Given the description of an element on the screen output the (x, y) to click on. 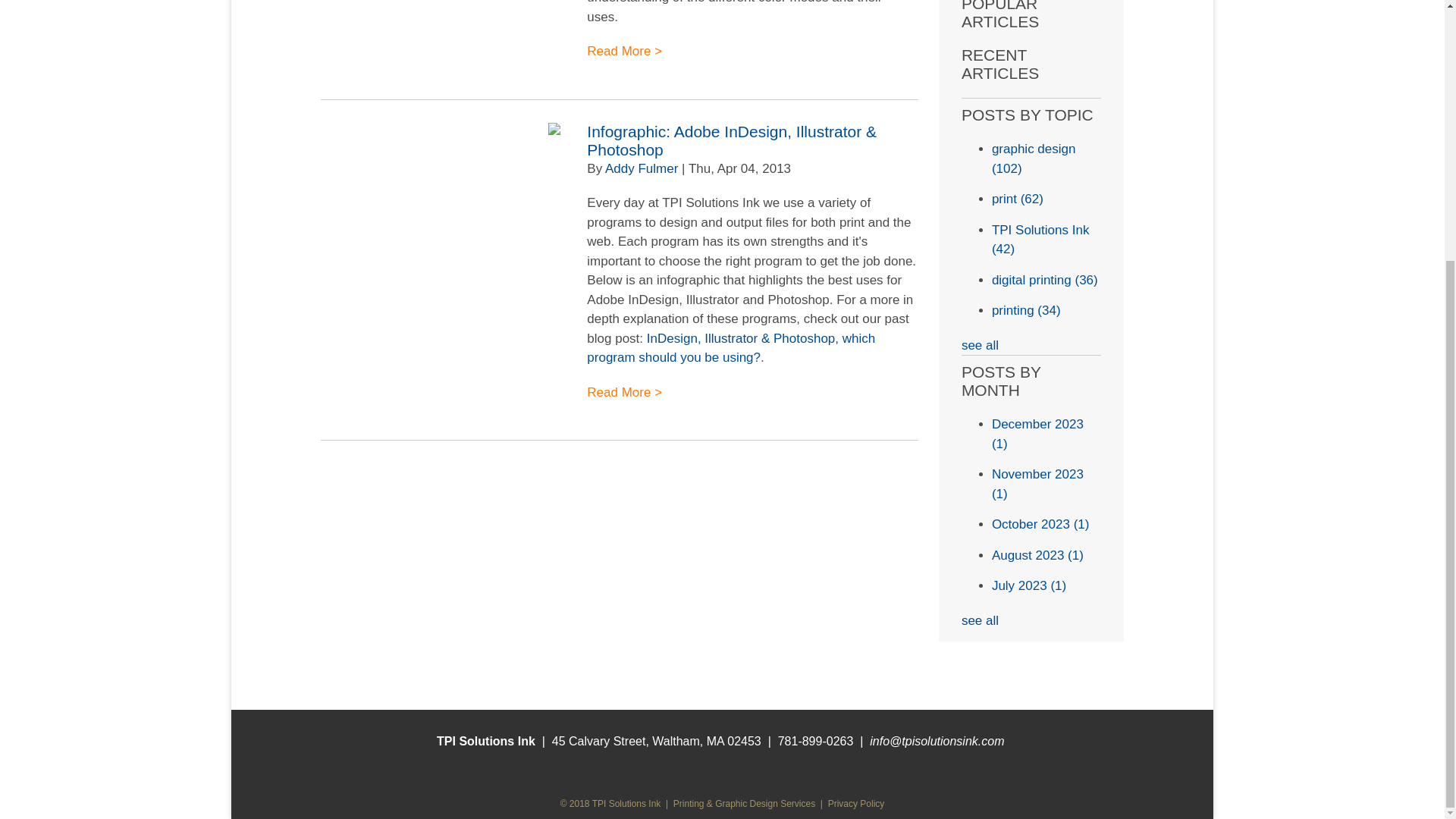
Follow us on Facebook (745, 770)
Follow us on Twitter (770, 770)
Follow us on Pinterest (649, 770)
Follow us on RSS (697, 770)
Follow us on Linkedin (794, 770)
Follow us on Instagram (721, 770)
Addy Fulmer (641, 168)
Follow us on YouTube (673, 770)
